Given the description of an element on the screen output the (x, y) to click on. 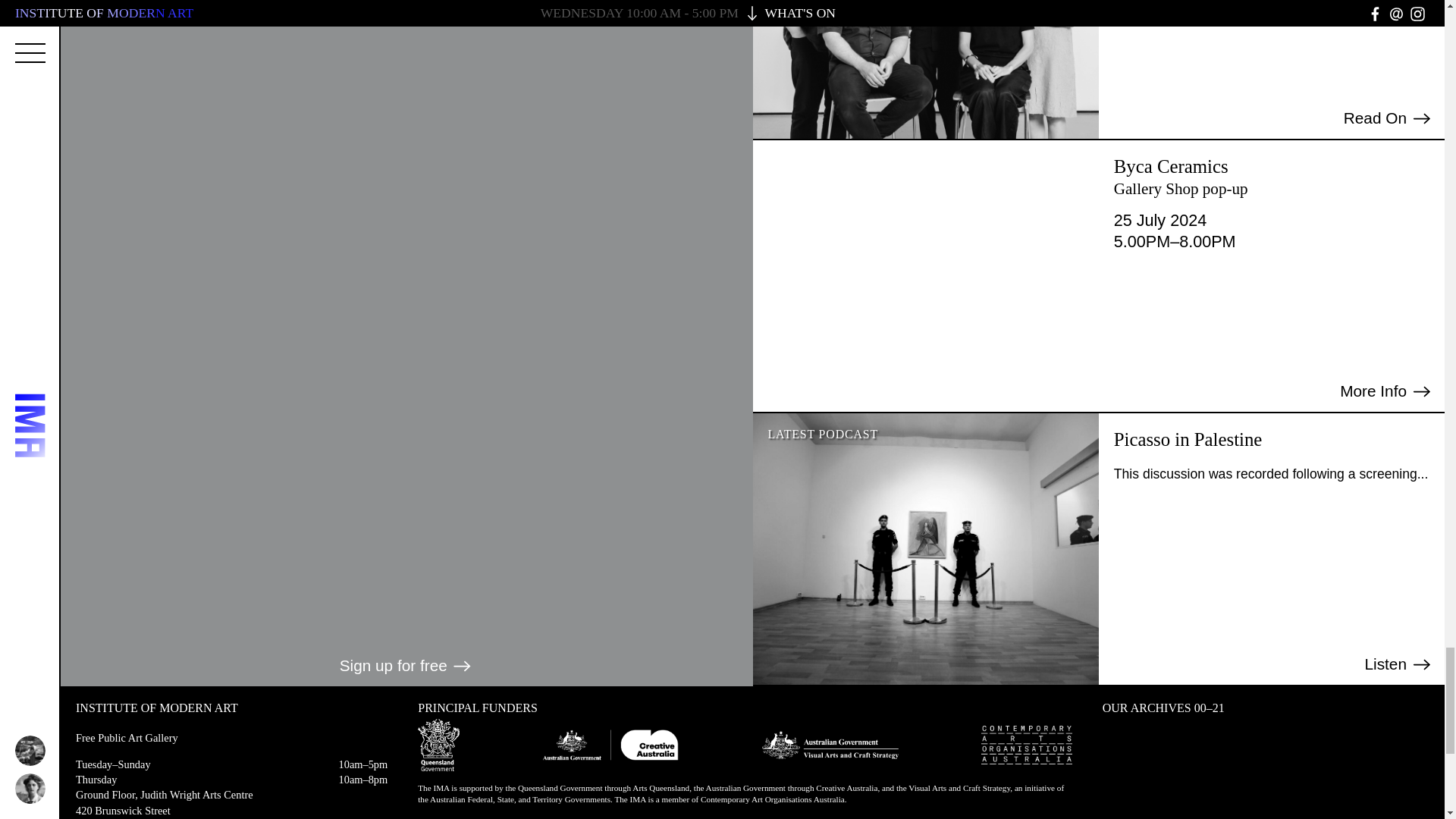
Discussion: Picasso In Palestine (1187, 439)
Byca Ceramics: Gallery Shop pop-up (1271, 177)
Sign up for free (406, 665)
Discussion: Picasso In Palestine (1399, 664)
Byca Ceramics: Gallery Shop pop-up (1385, 391)
Announcement: 2024 Artistic Program (1387, 117)
